Given the description of an element on the screen output the (x, y) to click on. 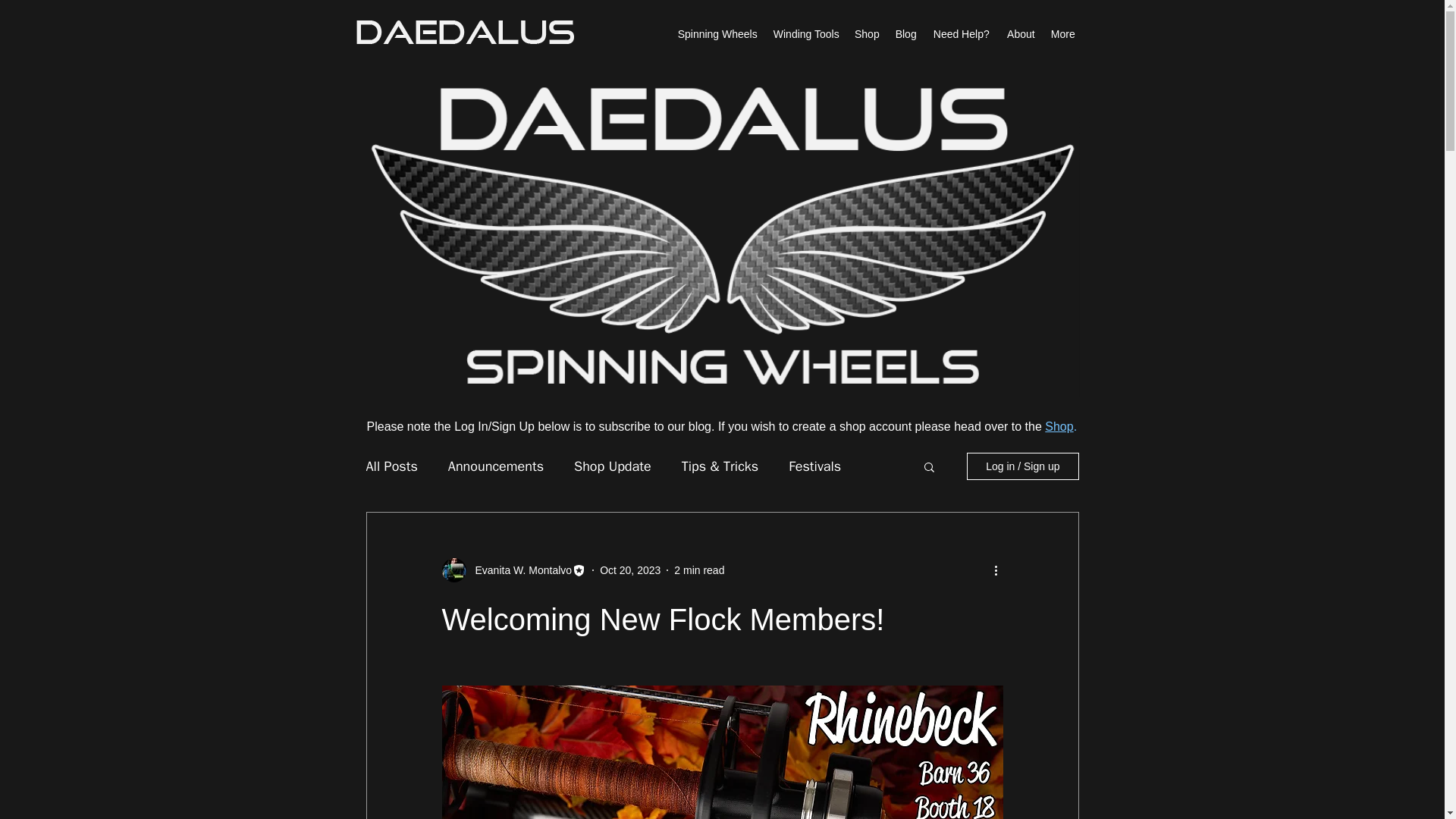
Shop (866, 33)
DaedalusTextLogo.png (464, 32)
Shop (1059, 426)
Oct 20, 2023 (630, 570)
All Posts (390, 466)
Announcements (495, 466)
Shop Update (611, 466)
Evanita W. Montalvo (513, 569)
2 min read (698, 570)
Festivals (815, 466)
Blog (905, 33)
Evanita W. Montalvo (518, 570)
